Given the description of an element on the screen output the (x, y) to click on. 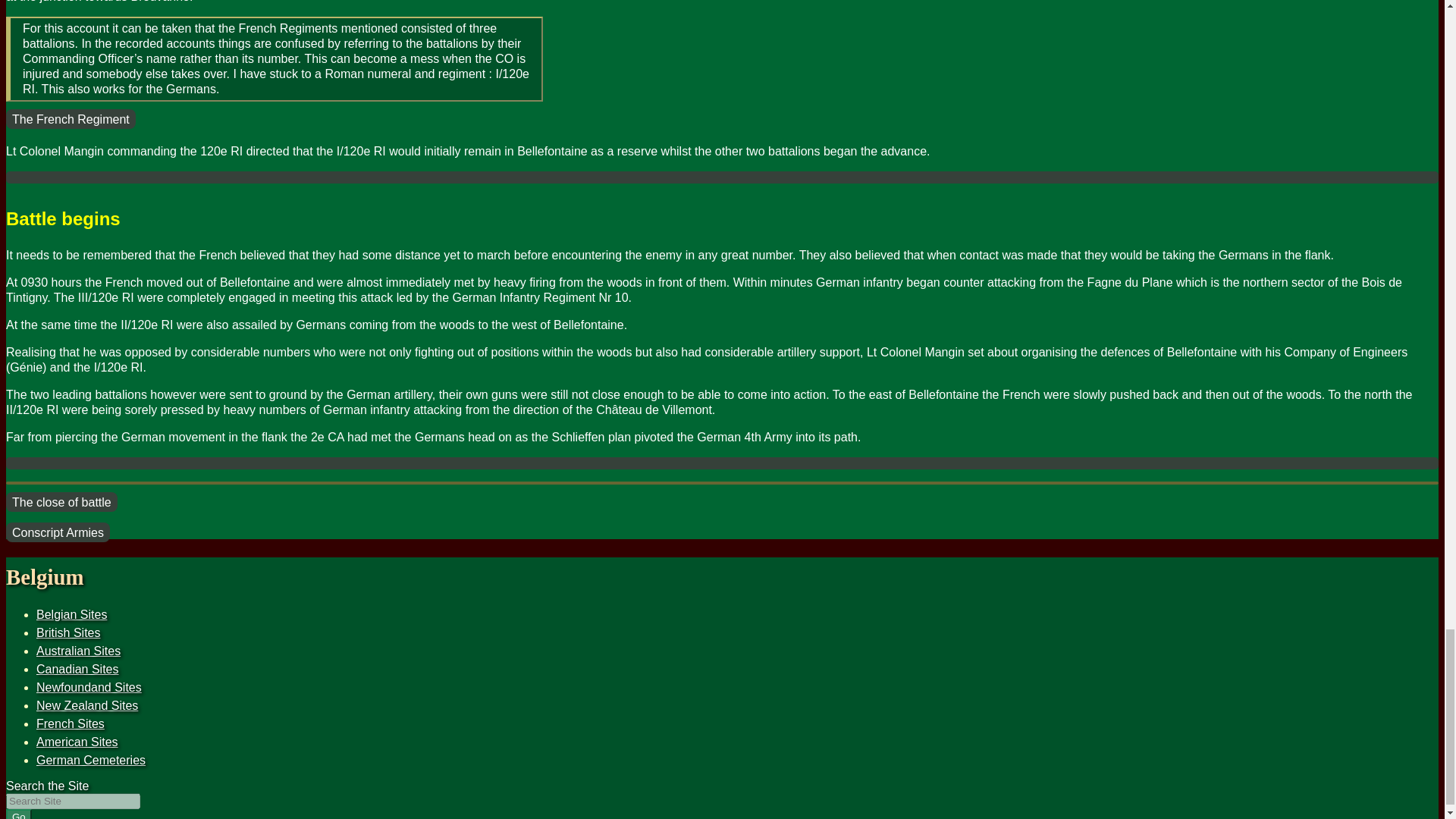
Jump to section (77, 668)
German Cemeteries (90, 759)
The French Regiment (70, 118)
American Sites (76, 741)
Jump to section (68, 632)
French Sites (70, 723)
Jump to section (70, 723)
Jump to section (88, 686)
Jump to section (87, 705)
The close of battle (61, 501)
Newfoundand Sites (88, 686)
Australian Sites (78, 650)
Jump to section (76, 741)
British Sites (68, 632)
Jump to section (71, 614)
